Given the description of an element on the screen output the (x, y) to click on. 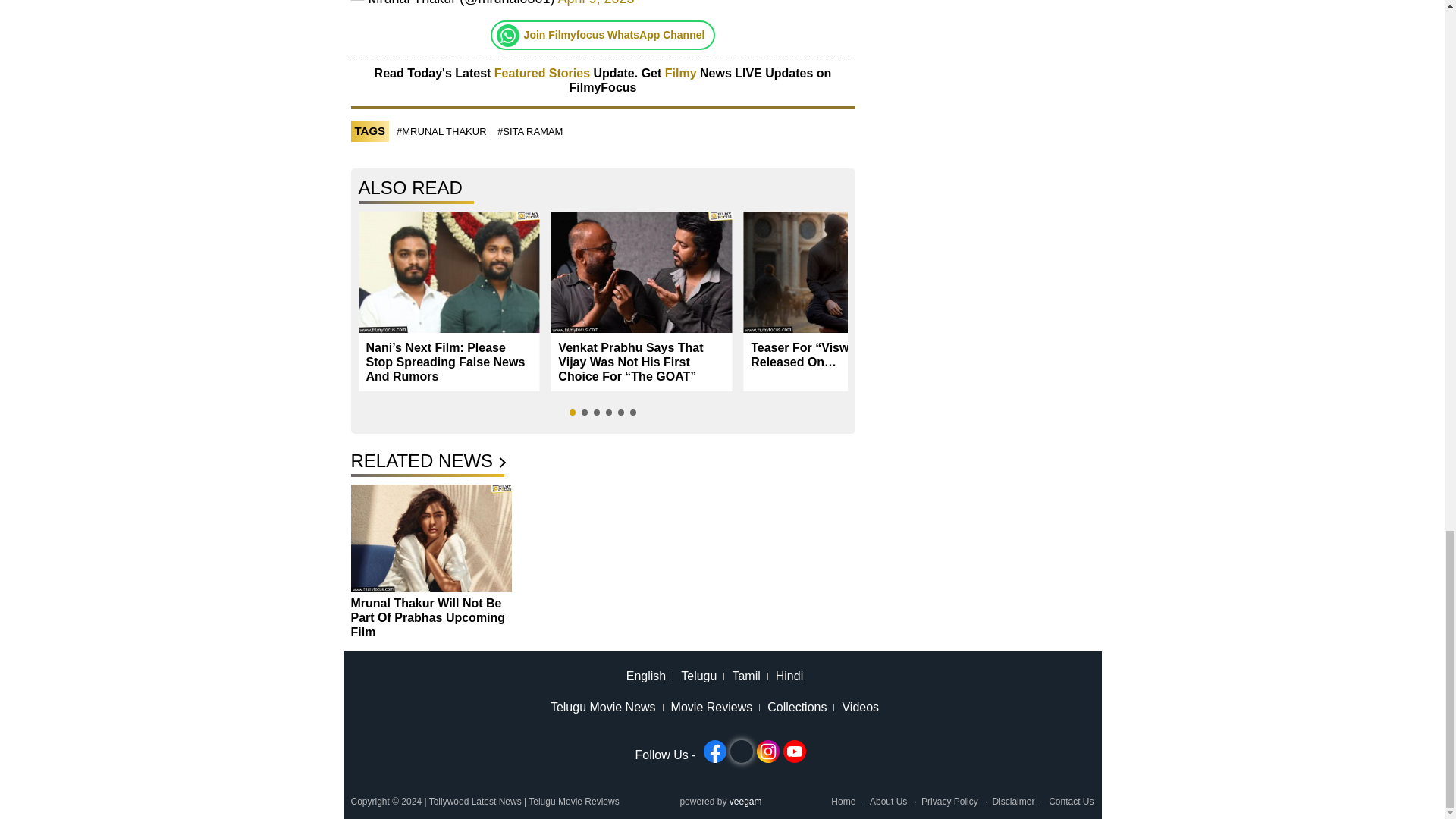
Filmy (682, 72)
April 9, 2023 (595, 2)
Featured Stories (542, 72)
Join Filmyfocus WhatsApp Channel (614, 35)
